Given the description of an element on the screen output the (x, y) to click on. 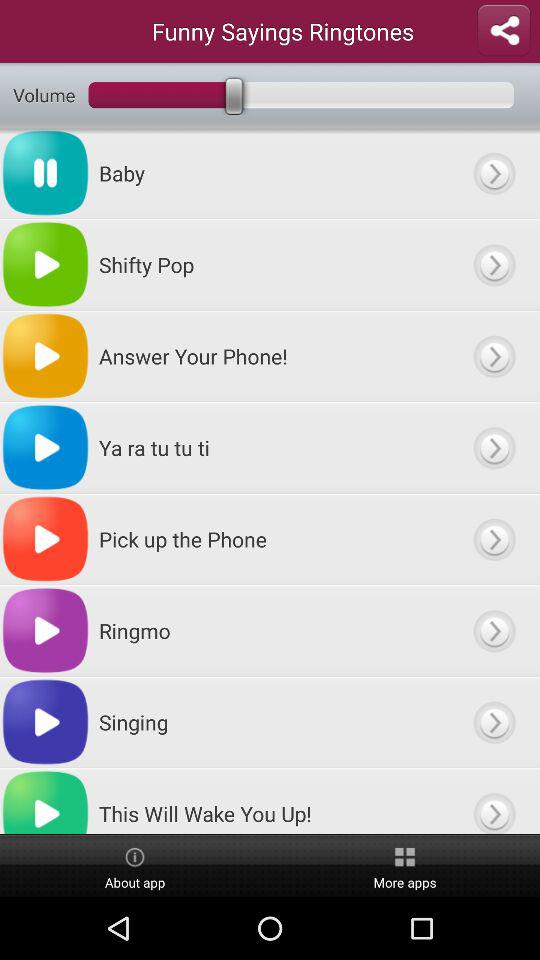
play option (494, 173)
